Given the description of an element on the screen output the (x, y) to click on. 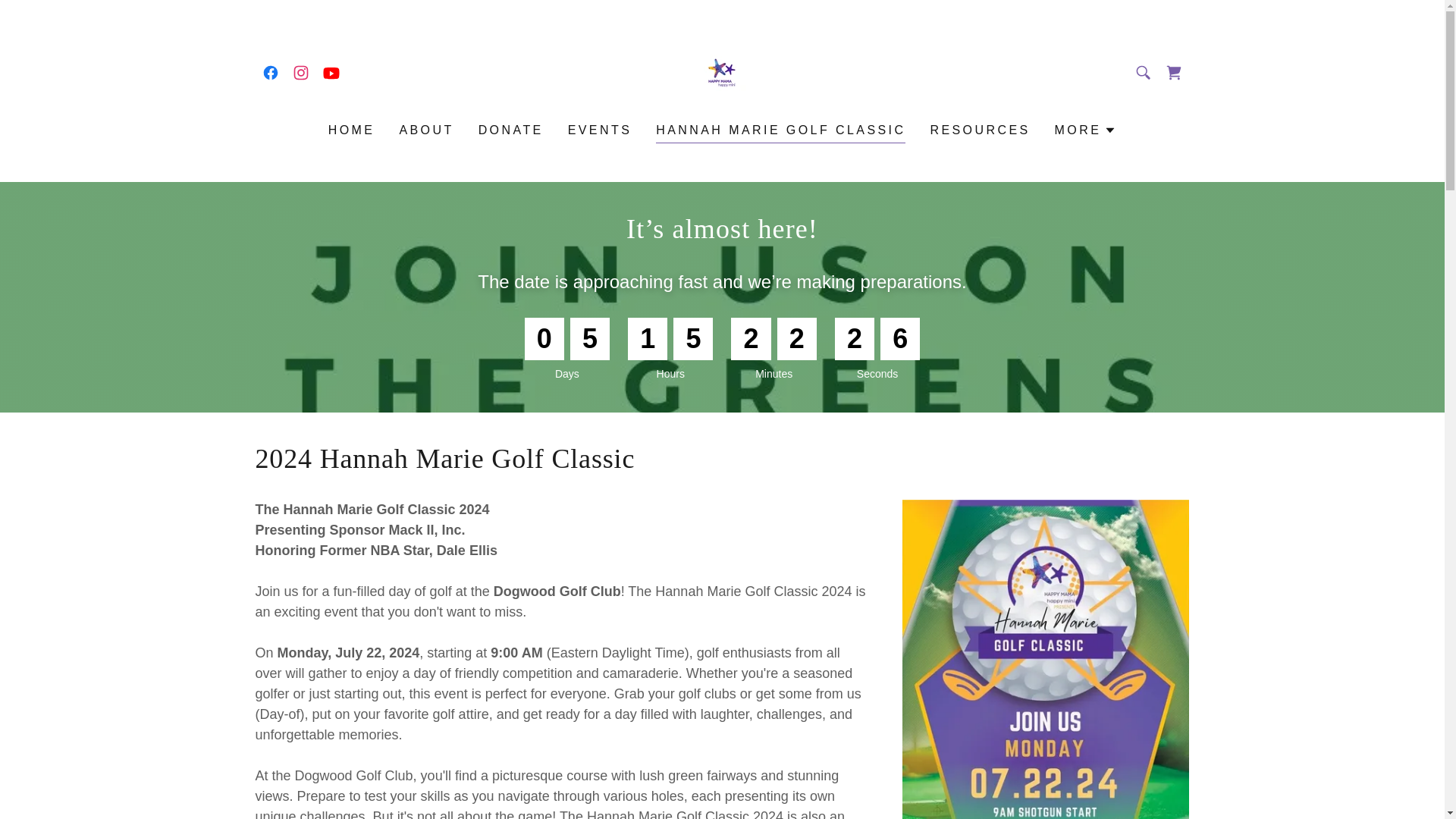
MORE (1085, 130)
HOME (351, 130)
RESOURCES (978, 130)
DONATE (511, 130)
 HAPPY MAMA happy mini, Inc. (721, 71)
HANNAH MARIE GOLF CLASSIC (780, 132)
ABOUT (426, 130)
EVENTS (600, 130)
